Given the description of an element on the screen output the (x, y) to click on. 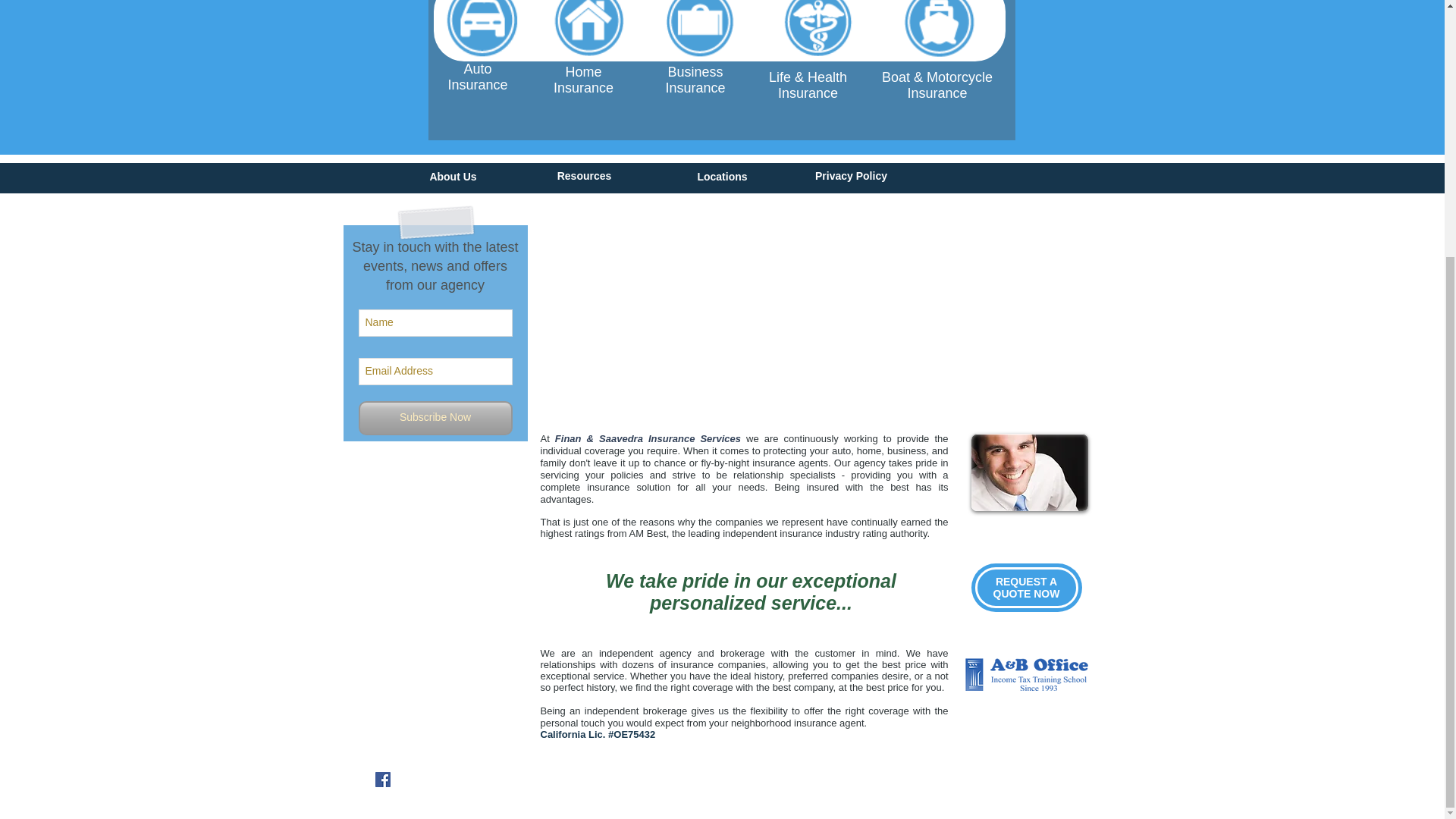
Home (582, 71)
AM Best (1025, 587)
Insurance (647, 532)
About Us (476, 84)
Resources (452, 176)
Locations (584, 175)
Privacy Policy (721, 176)
Subscribe Now (850, 175)
Auto (435, 417)
